Given the description of an element on the screen output the (x, y) to click on. 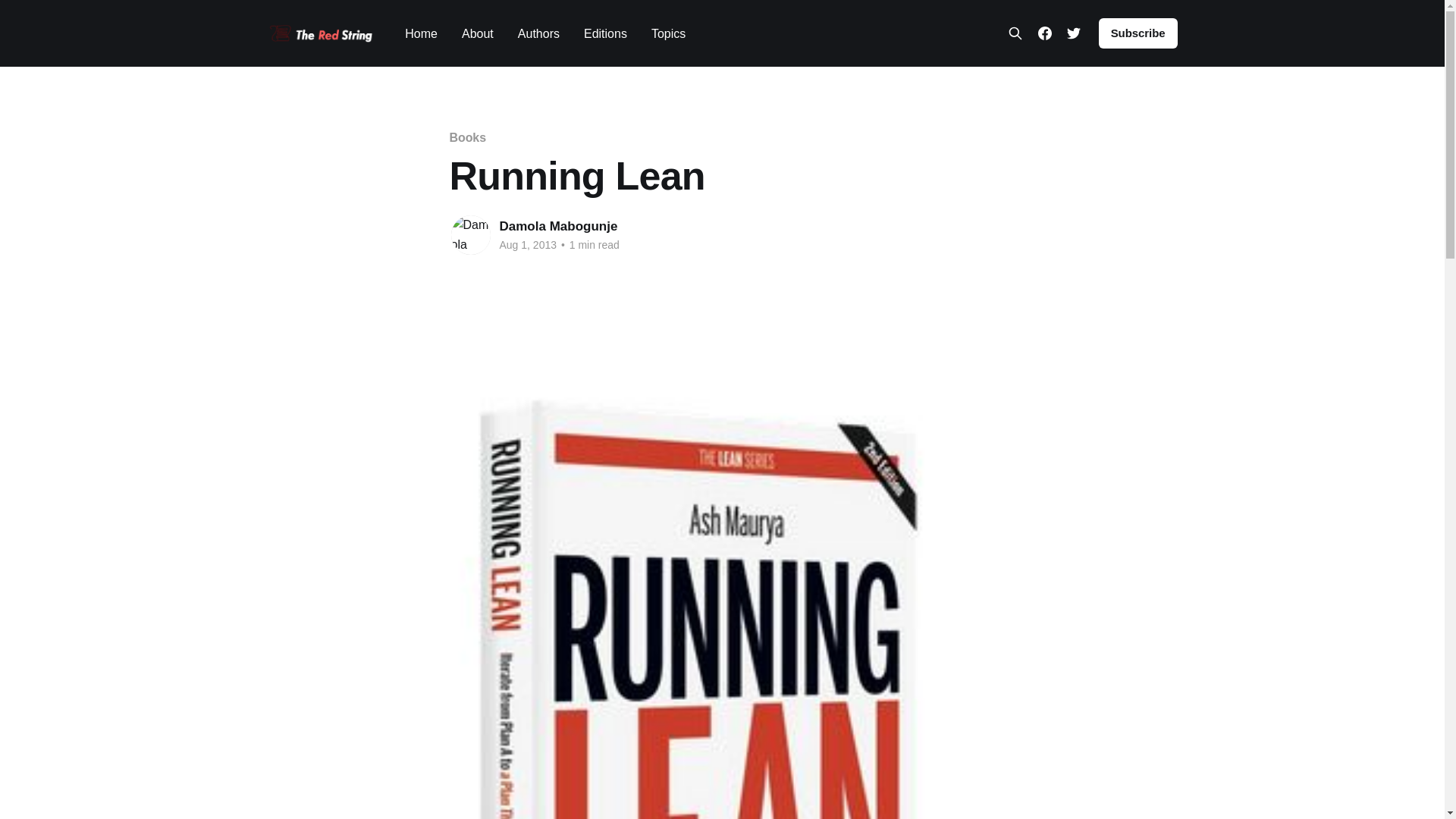
Books (467, 137)
Topics (667, 33)
Home (421, 33)
Twitter (1073, 33)
Damola Mabogunje (558, 226)
Editions (605, 33)
Authors (538, 33)
About (477, 33)
Facebook (1044, 33)
Subscribe (1138, 33)
